Given the description of an element on the screen output the (x, y) to click on. 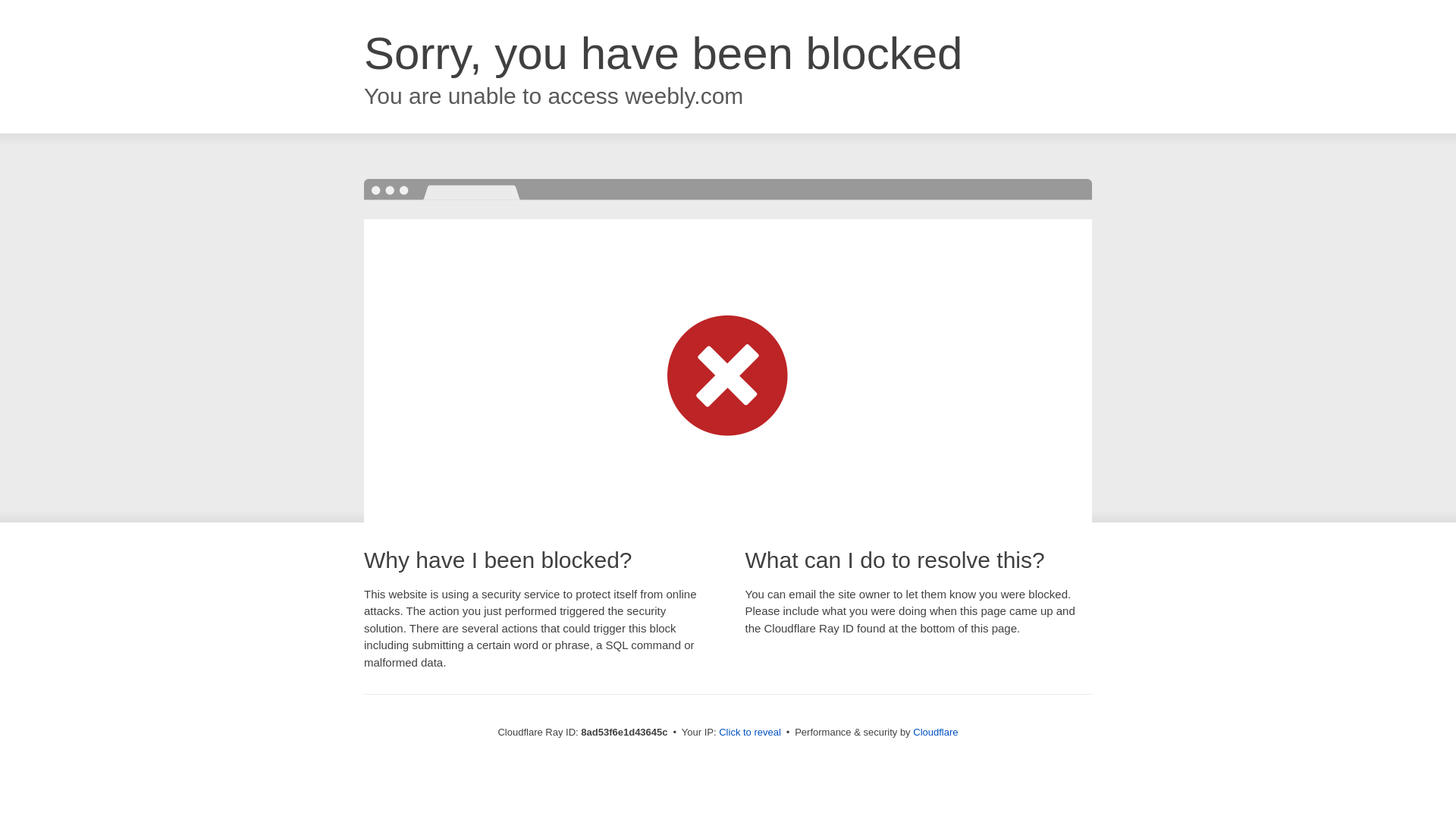
Click to reveal (749, 732)
Cloudflare (935, 731)
